Given the description of an element on the screen output the (x, y) to click on. 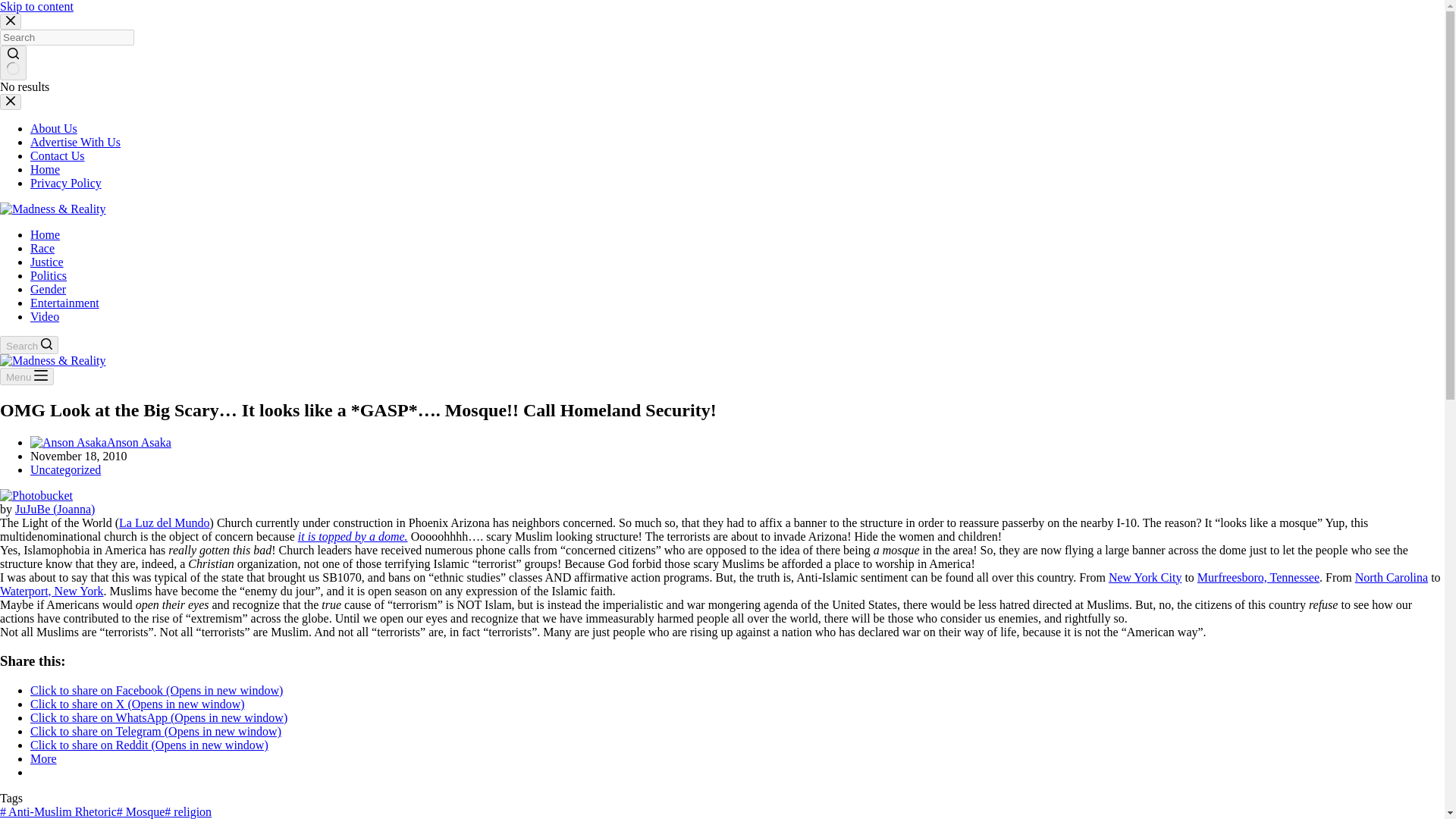
Menu (26, 375)
Click to share on X (137, 703)
Posts by Anson Asaka (138, 441)
Search for... (66, 37)
North Carolina (1391, 576)
Home (44, 234)
Click to share on Facebook (156, 689)
Politics (48, 275)
Skip to content (37, 6)
La Luz del Mundo (164, 522)
